Given the description of an element on the screen output the (x, y) to click on. 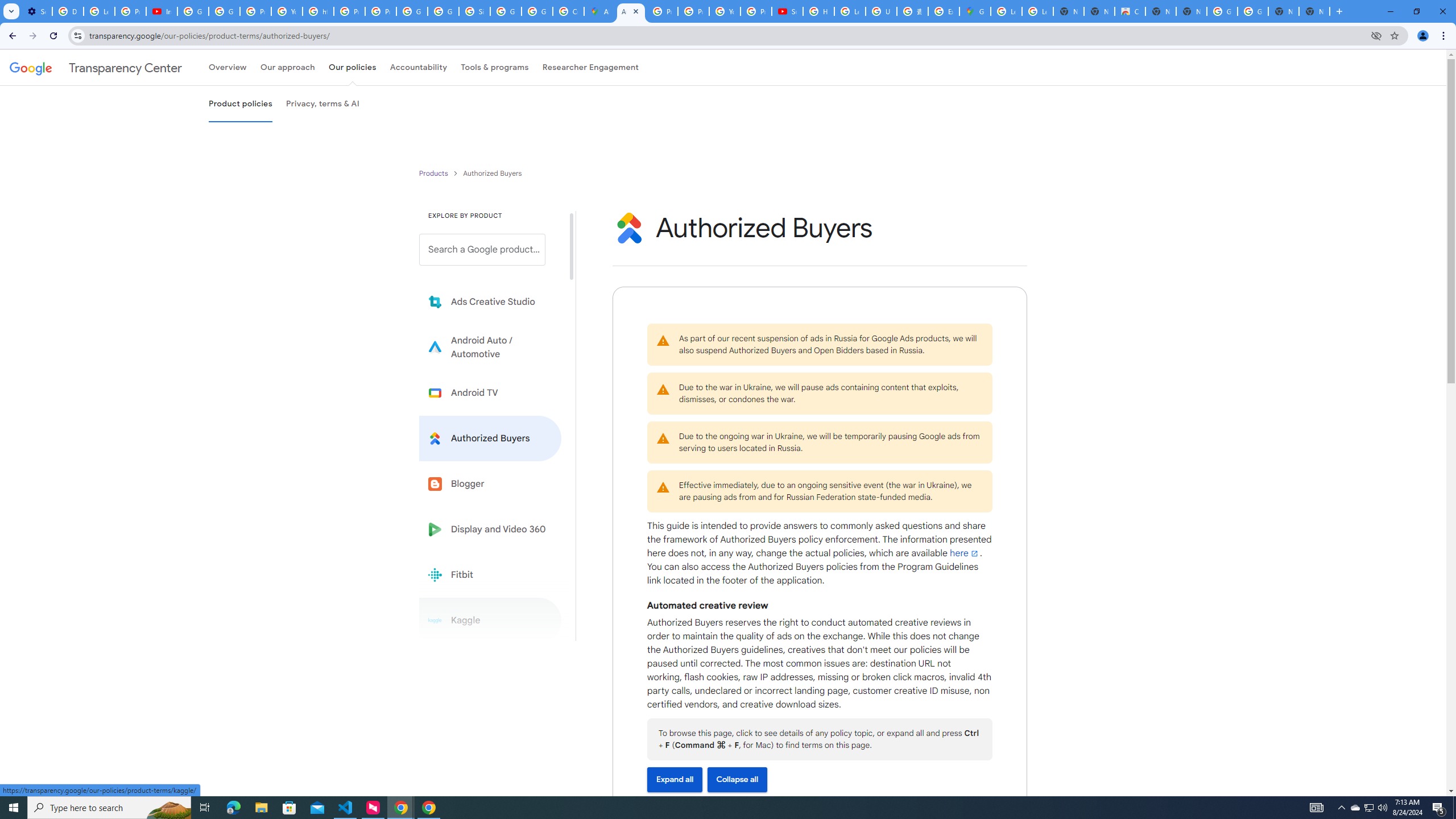
Search a Google product from below list. (481, 249)
Learn more about Android Auto (490, 347)
Learn how to find your photos - Google Photos Help (98, 11)
Learn more about Android Auto (490, 347)
Fitbit (490, 574)
Blogger (490, 483)
Display and Video 360 (490, 529)
Privacy, terms & AI (322, 103)
